Given the description of an element on the screen output the (x, y) to click on. 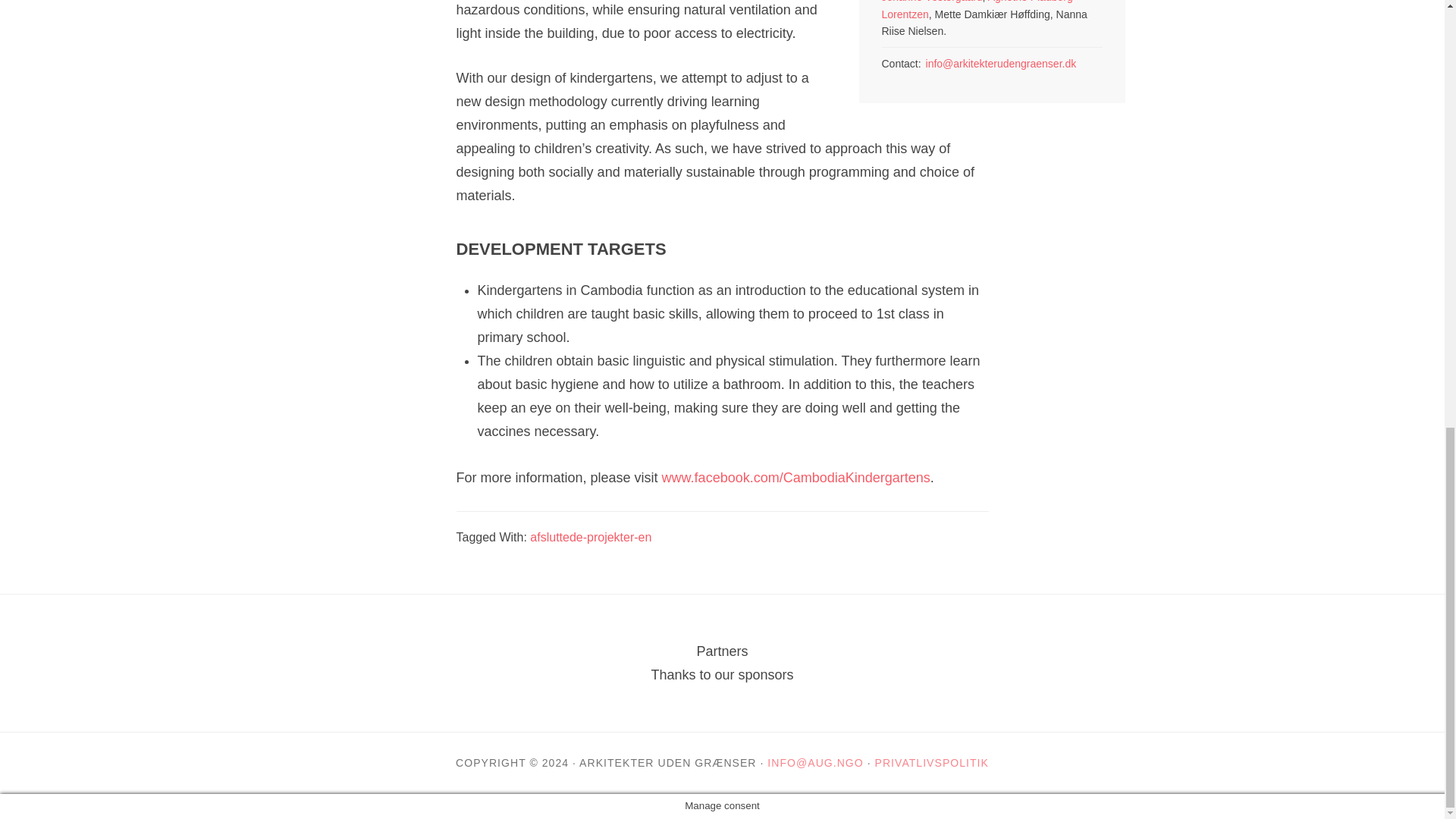
Johanne Vestergaard (930, 1)
Agnethe Plauborg Lorentzen (975, 9)
PRIVATLIVSPOLITIK (931, 762)
afsluttede-projekter-en (589, 536)
